Given the description of an element on the screen output the (x, y) to click on. 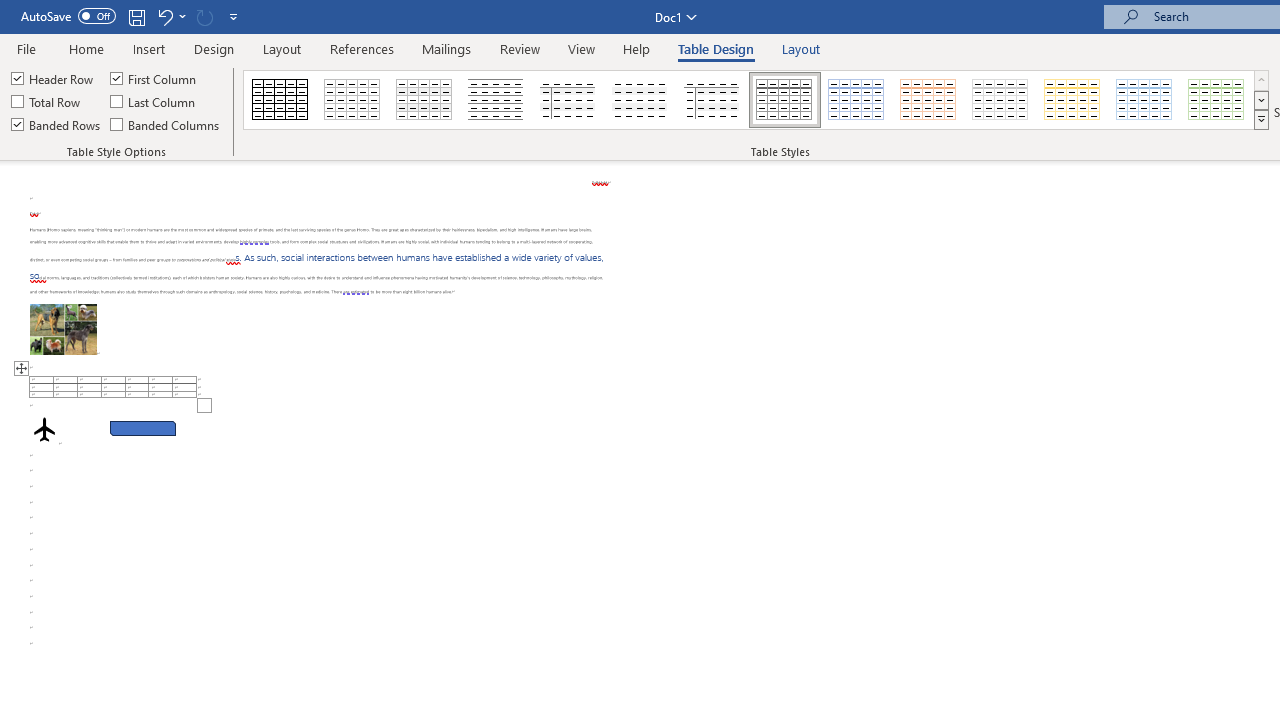
Class: NetUIImage (1261, 119)
AutomationID: TableStylesGalleryWord (756, 99)
Insert (149, 48)
Rectangle: Diagonal Corners Snipped 2 (143, 428)
Can't Repeat (204, 15)
Grid Table 1 Light - Accent 3 (1000, 100)
